Given the description of an element on the screen output the (x, y) to click on. 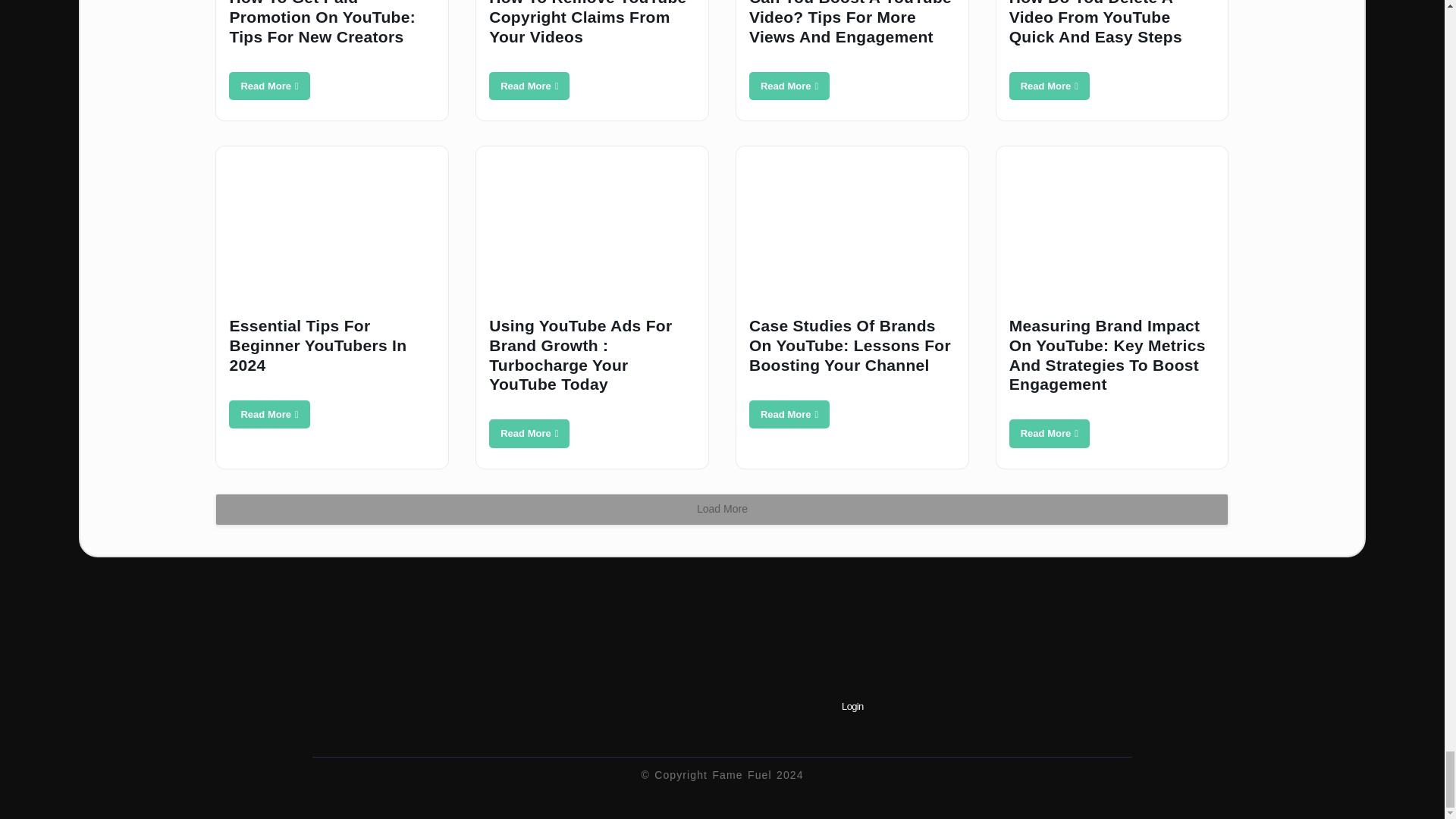
How Do You Delete a Video from YouTube Quick and Easy Steps (1049, 86)
How to Get Paid Promotion on YouTube: Tips for New Creators (268, 86)
How to Remove YouTube Copyright Claims From Your Videos (529, 86)
Essential Tips for Beginner YouTubers in 2024 (268, 414)
